Given the description of an element on the screen output the (x, y) to click on. 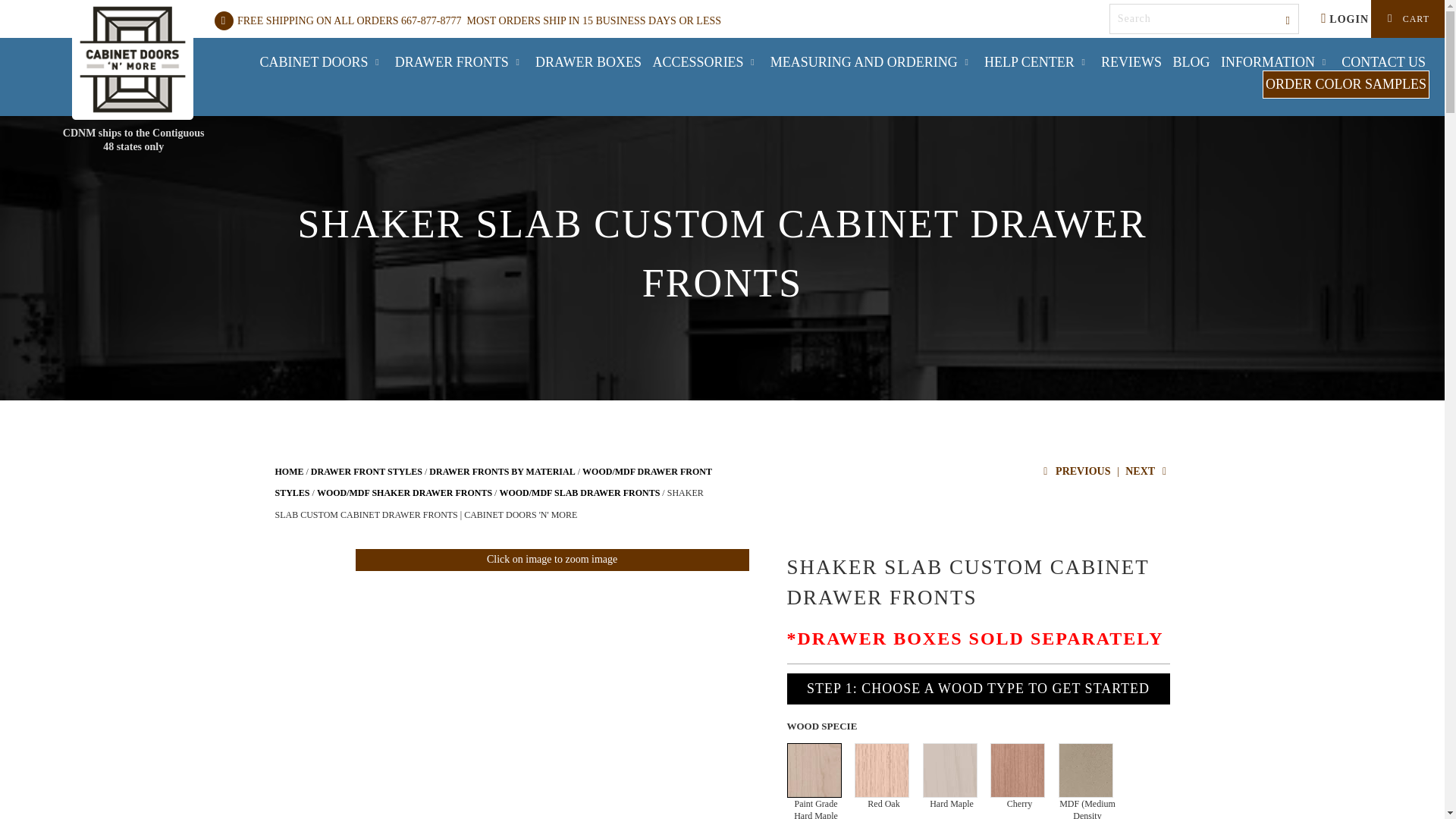
Previous (1074, 471)
Cabinet Doors 'N' More (132, 59)
Back to the frontpage (288, 471)
Next (1147, 471)
